Given the description of an element on the screen output the (x, y) to click on. 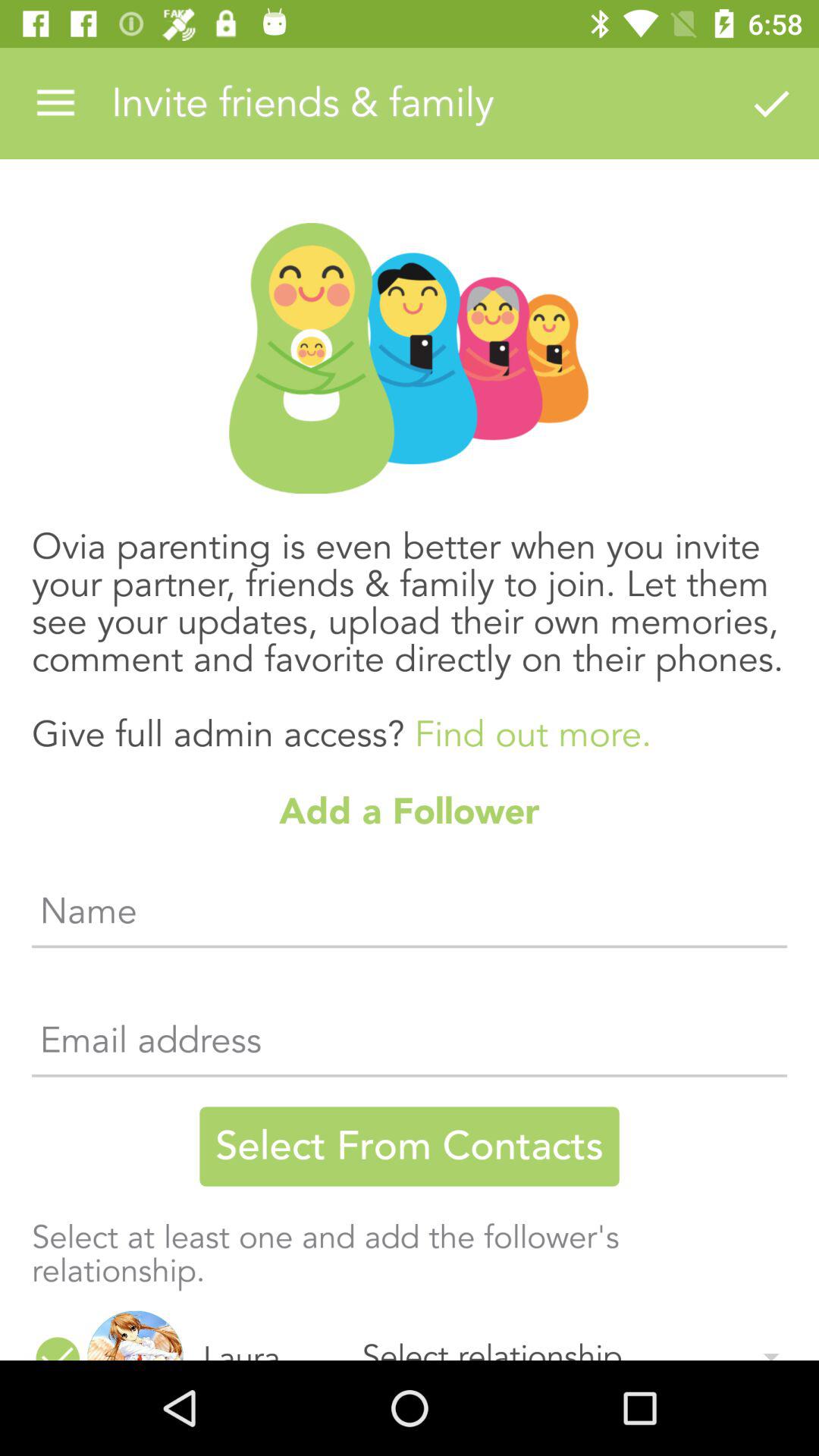
swipe until select from contacts item (409, 1146)
